Given the description of an element on the screen output the (x, y) to click on. 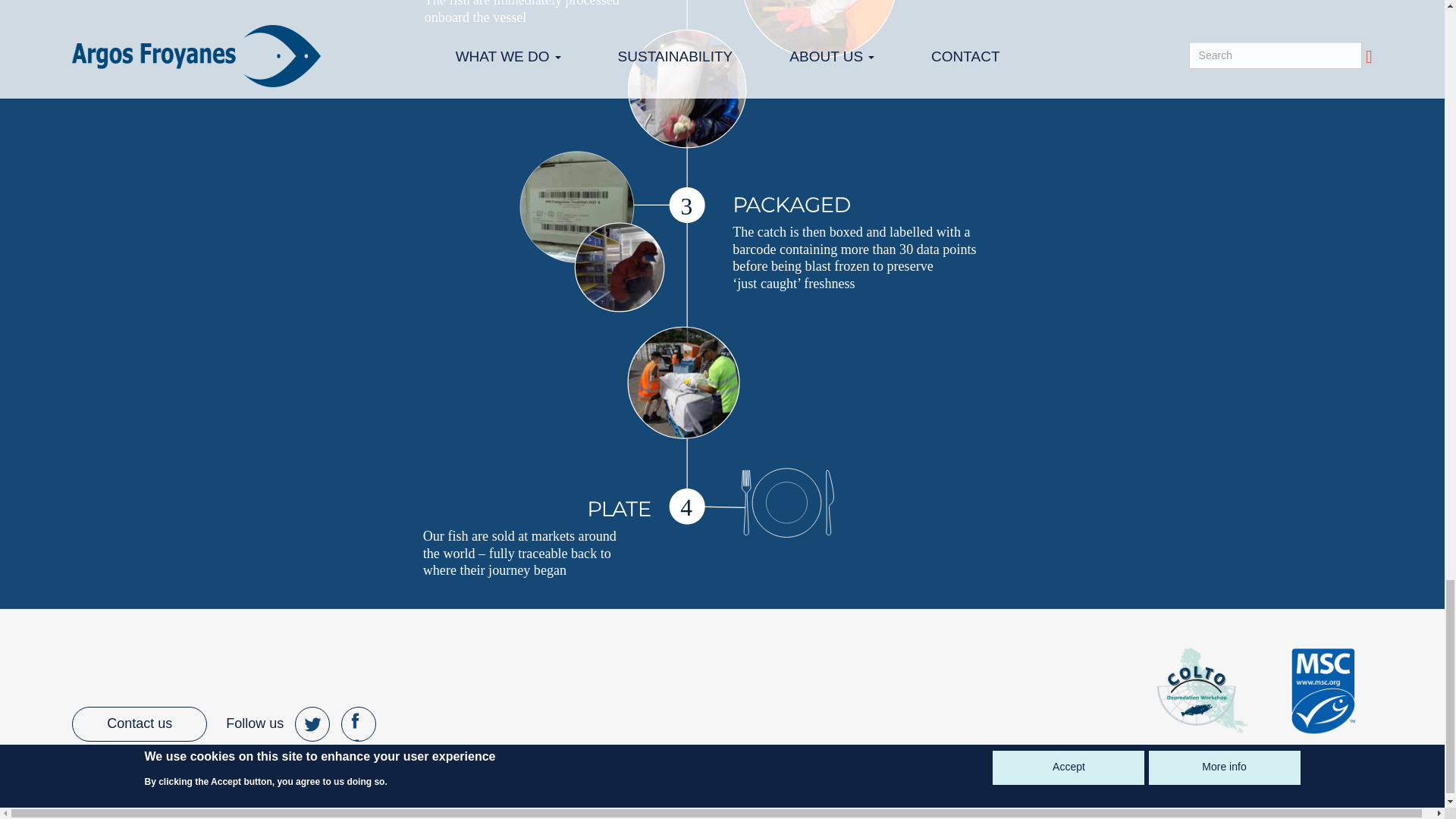
Privacy policy (263, 794)
Contact Us (352, 794)
Contact us (138, 724)
facebook (357, 724)
twitter (312, 724)
